Given the description of an element on the screen output the (x, y) to click on. 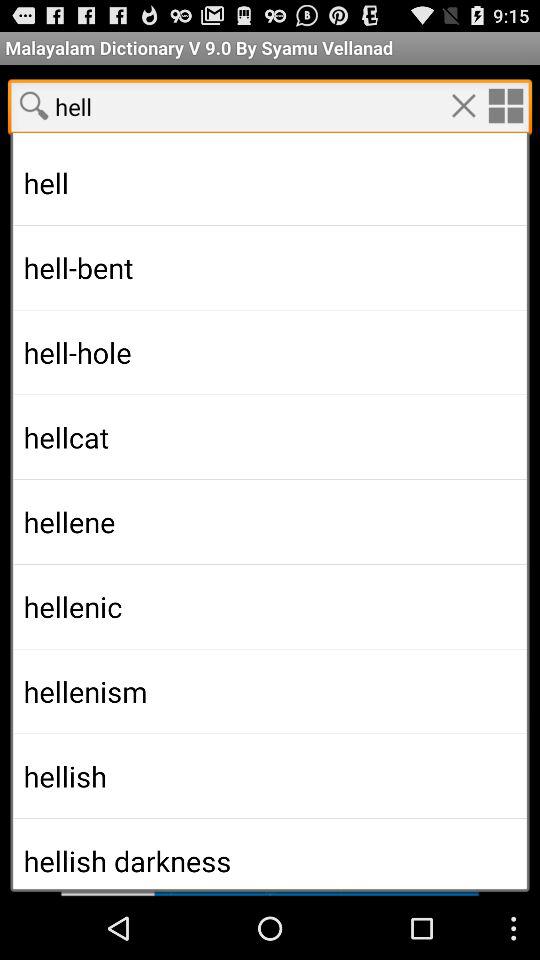
page share button (34, 105)
